Given the description of an element on the screen output the (x, y) to click on. 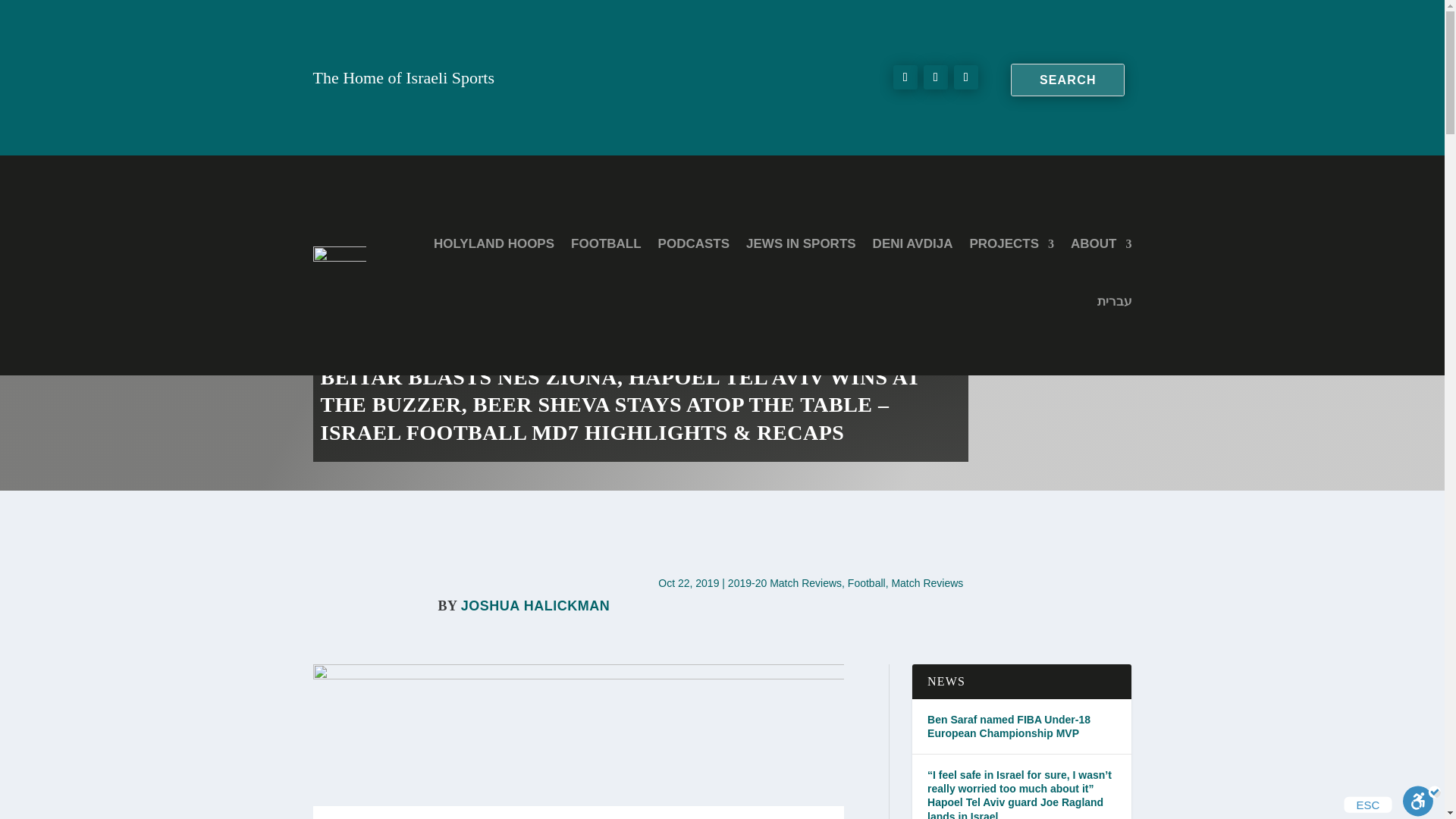
Follow on Instagram (965, 77)
Match Reviews (926, 582)
JEWS IN SPORTS (800, 243)
5 (578, 723)
Follow on X (935, 77)
PROJECTS (1011, 243)
JOSHUA HALICKMAN (535, 605)
DENI AVDIJA (912, 243)
Football (866, 582)
2019-20 Match Reviews (784, 582)
